Given the description of an element on the screen output the (x, y) to click on. 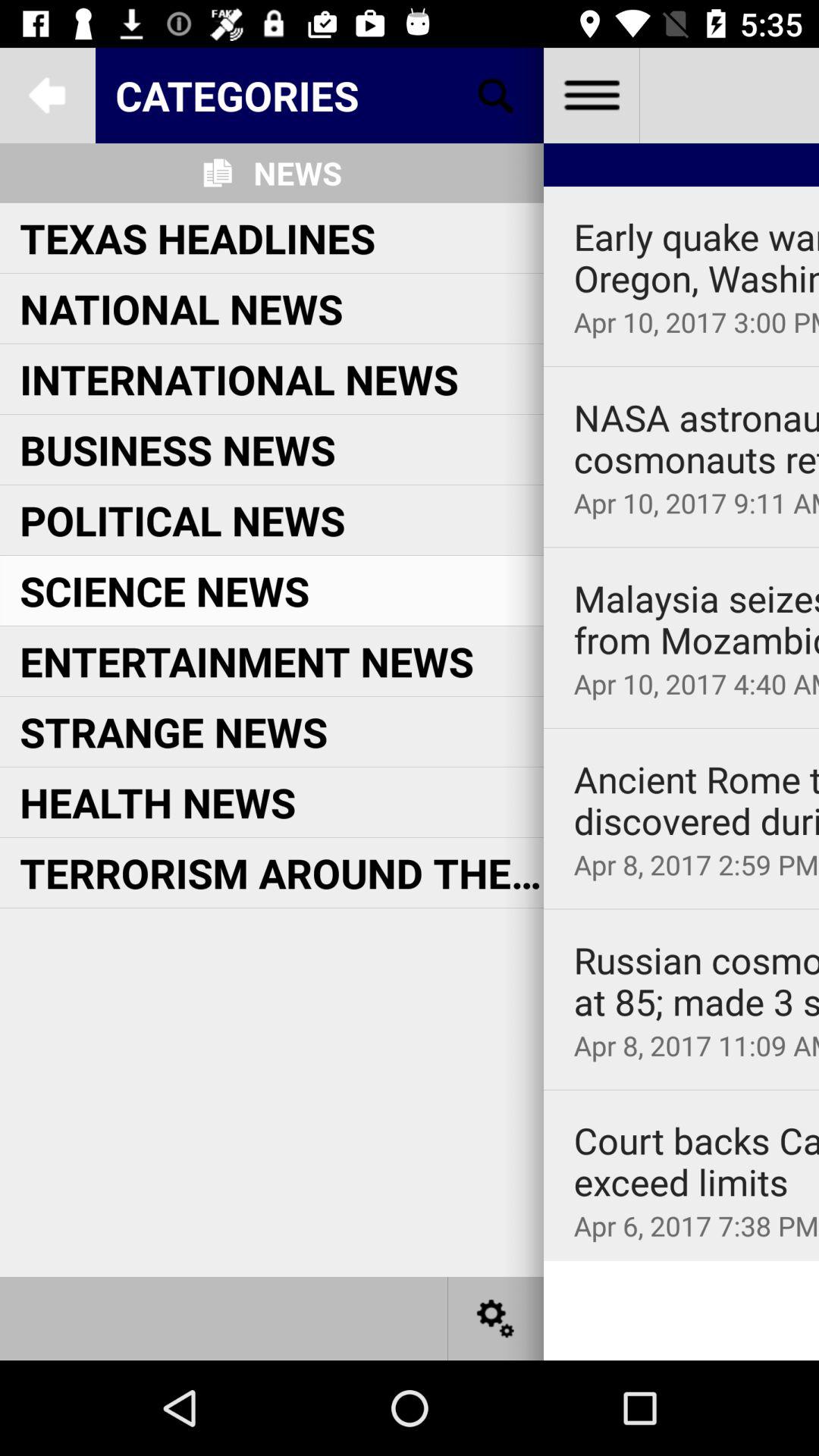
turn on item to the right of international news (696, 438)
